Given the description of an element on the screen output the (x, y) to click on. 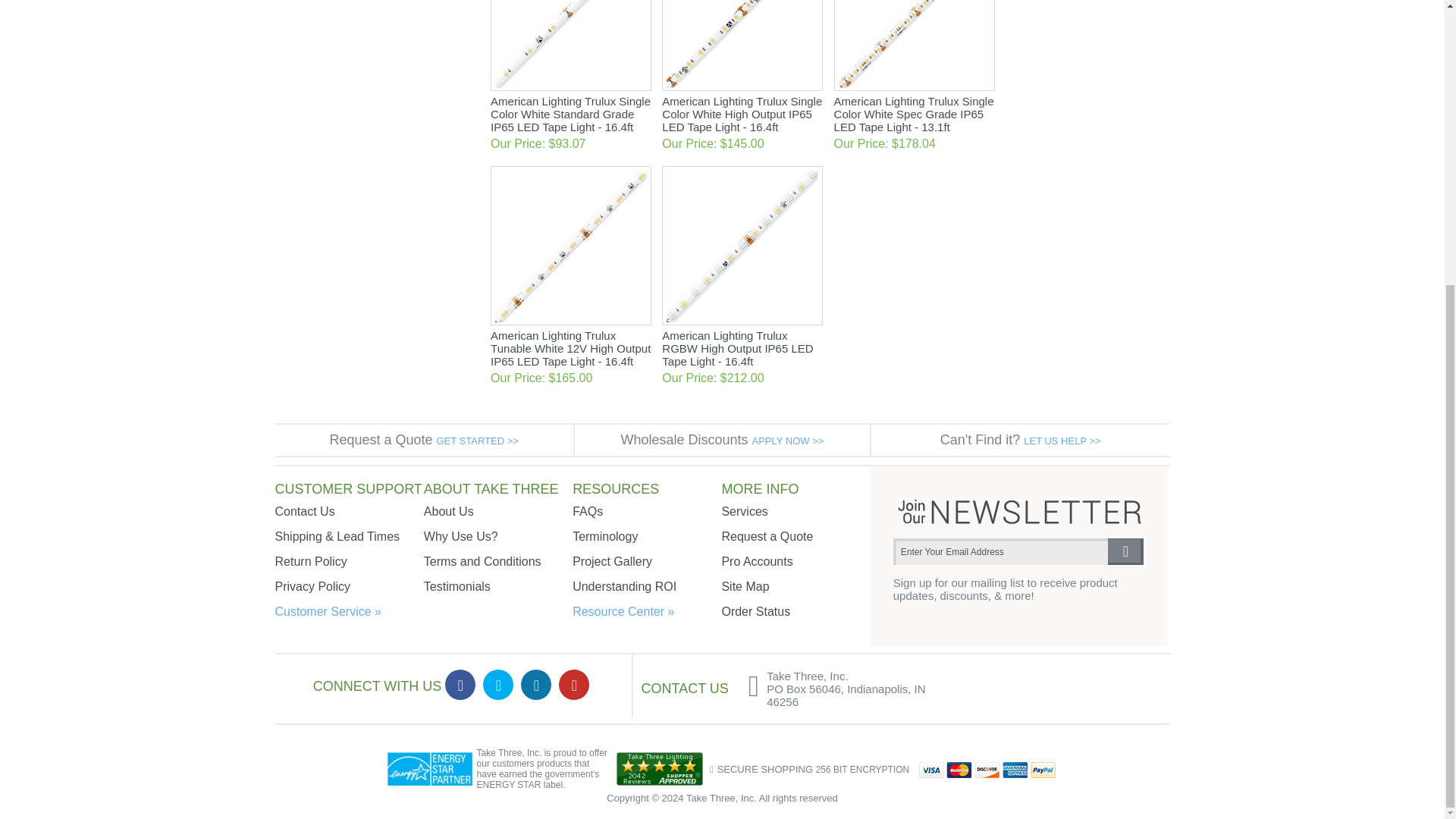
Enter Your Email Address (1000, 551)
